Given the description of an element on the screen output the (x, y) to click on. 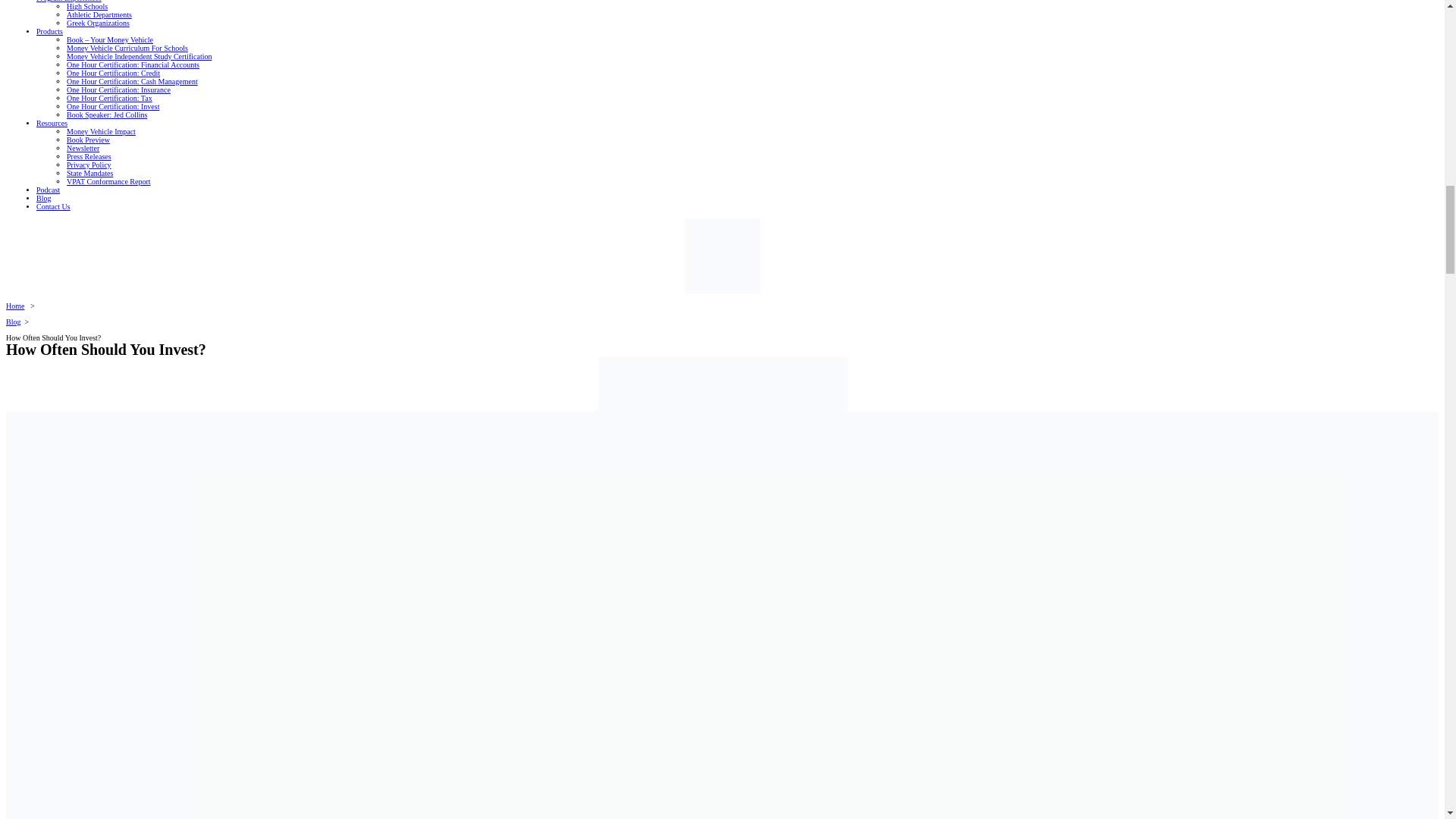
Dots Array (722, 256)
